Given the description of an element on the screen output the (x, y) to click on. 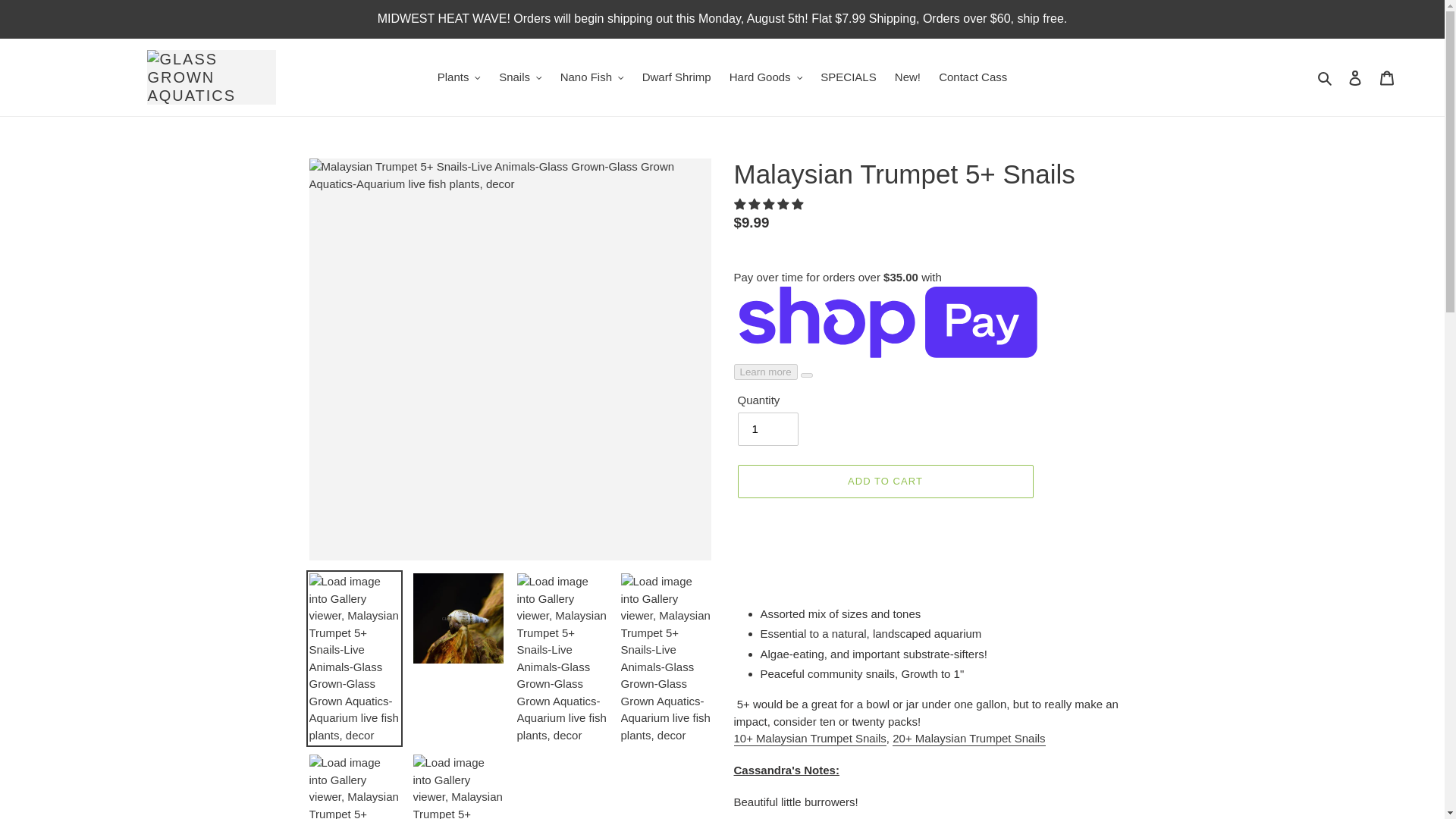
1 (766, 428)
Plants (458, 77)
Snails (520, 77)
